Given the description of an element on the screen output the (x, y) to click on. 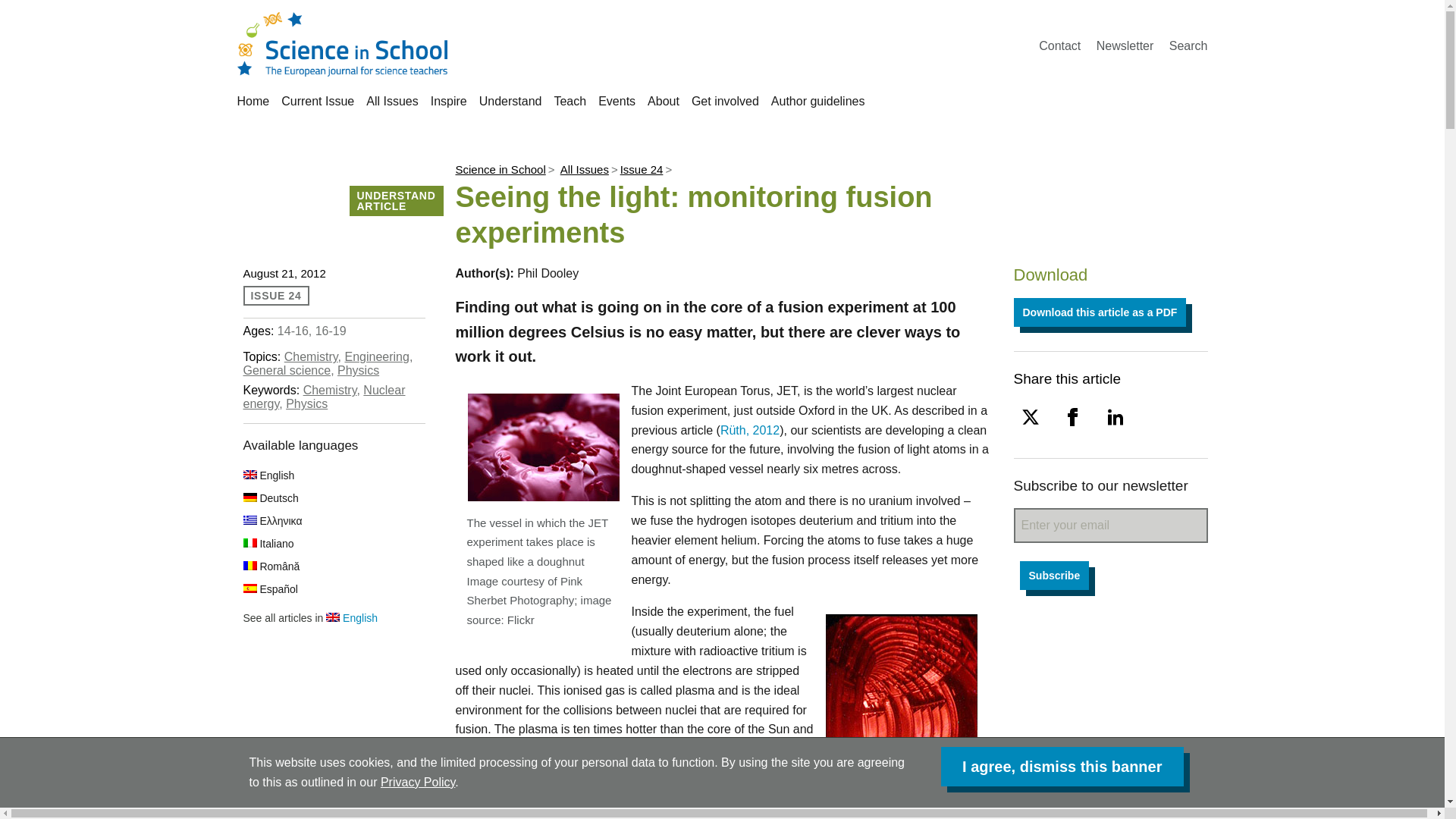
Contact (1059, 45)
Get involved (724, 101)
Physics (357, 369)
Engineering (376, 356)
Chemistry (310, 356)
Inspire (448, 101)
Teach (569, 101)
Current Issue (317, 101)
Physics (306, 403)
 Italiano (268, 543)
Search (1188, 45)
ISSUE 24 (275, 295)
Understand (510, 101)
Author guidelines (817, 101)
Home (252, 101)
